Given the description of an element on the screen output the (x, y) to click on. 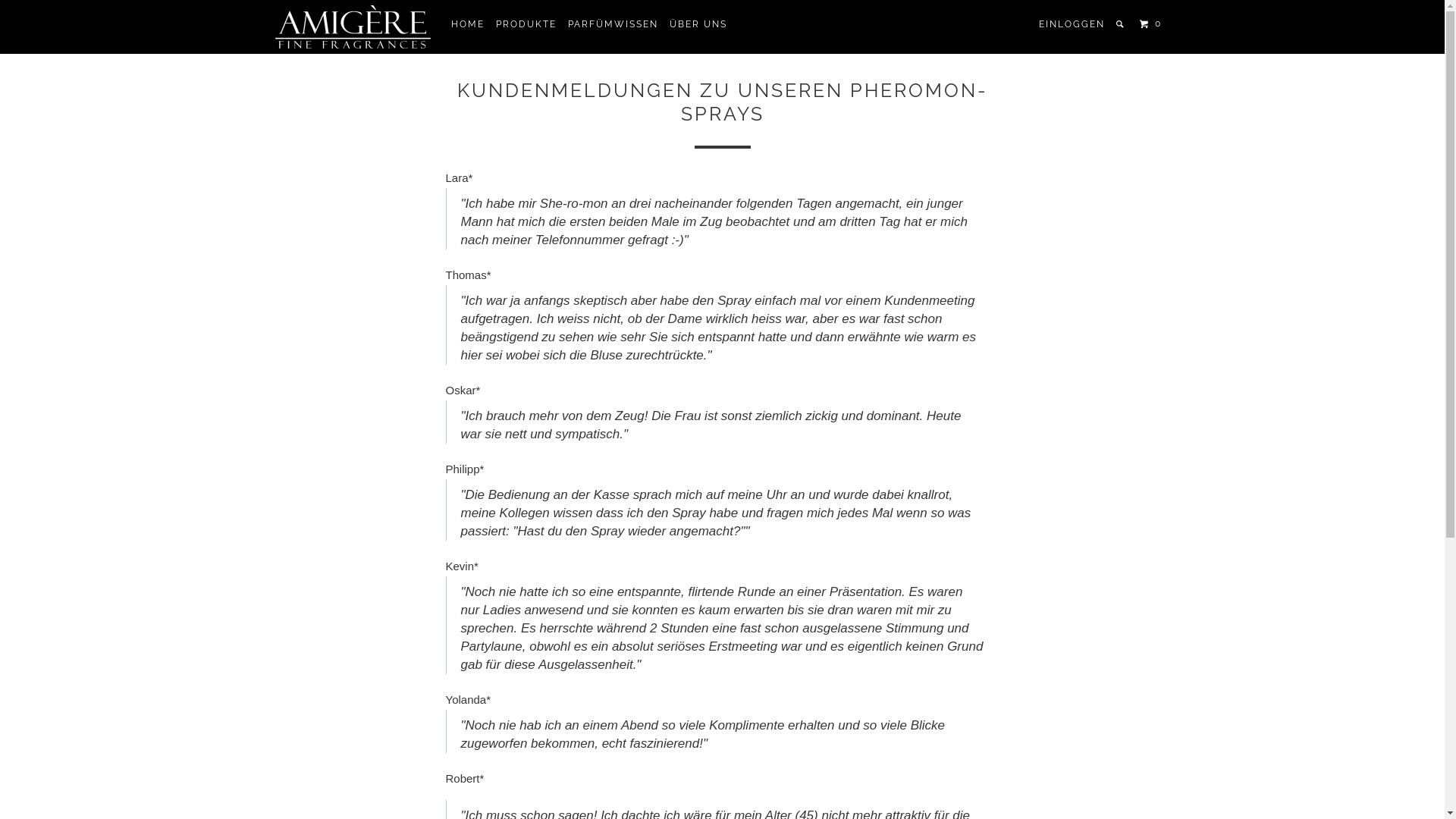
EINLOGGEN Element type: text (1071, 24)
PRODUKTE Element type: text (525, 24)
Suchen Element type: hover (1121, 24)
HOME Element type: text (466, 24)
0 Element type: text (1151, 24)
